Given the description of an element on the screen output the (x, y) to click on. 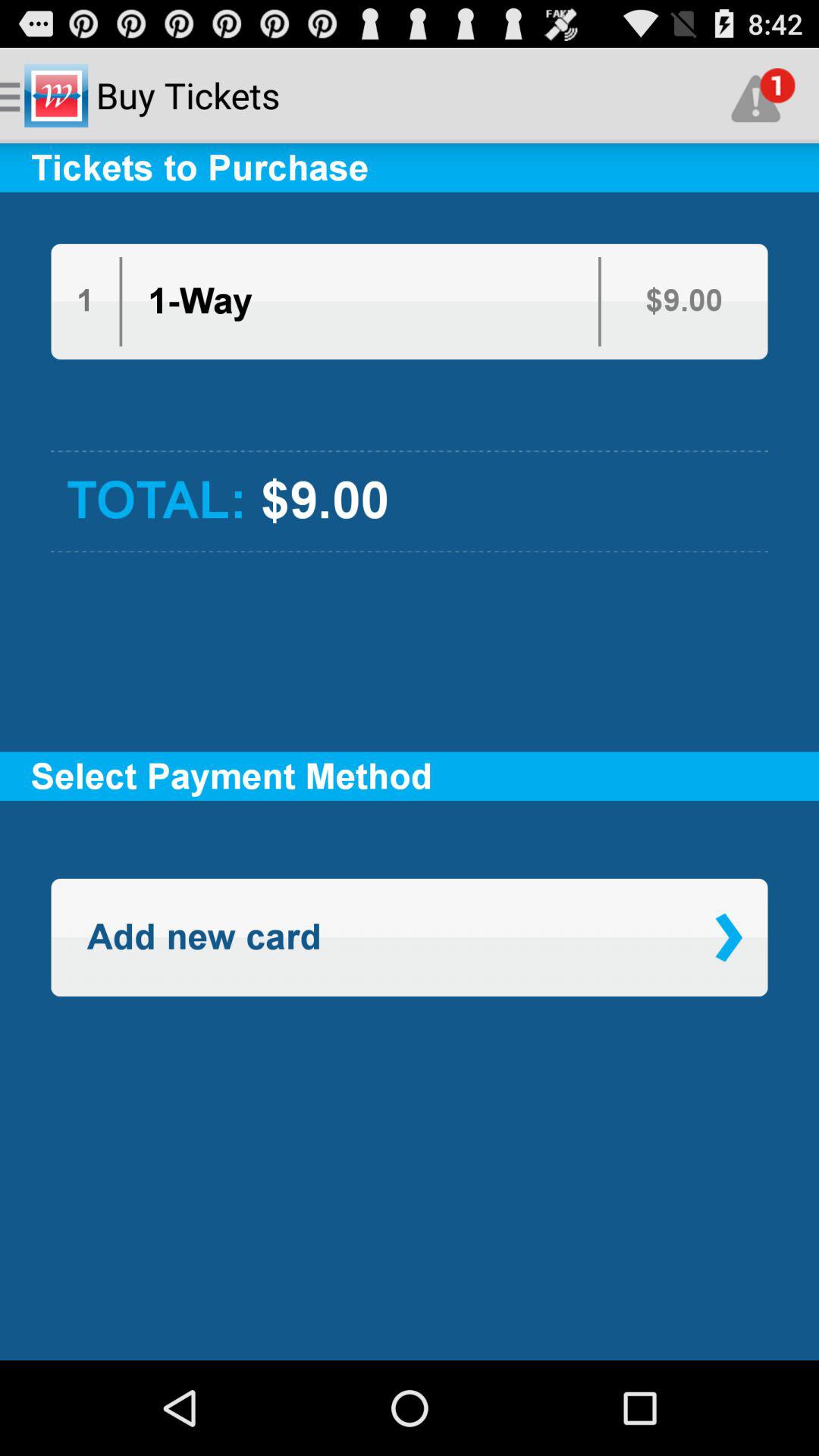
launch the icon next to the buy tickets app (763, 95)
